Given the description of an element on the screen output the (x, y) to click on. 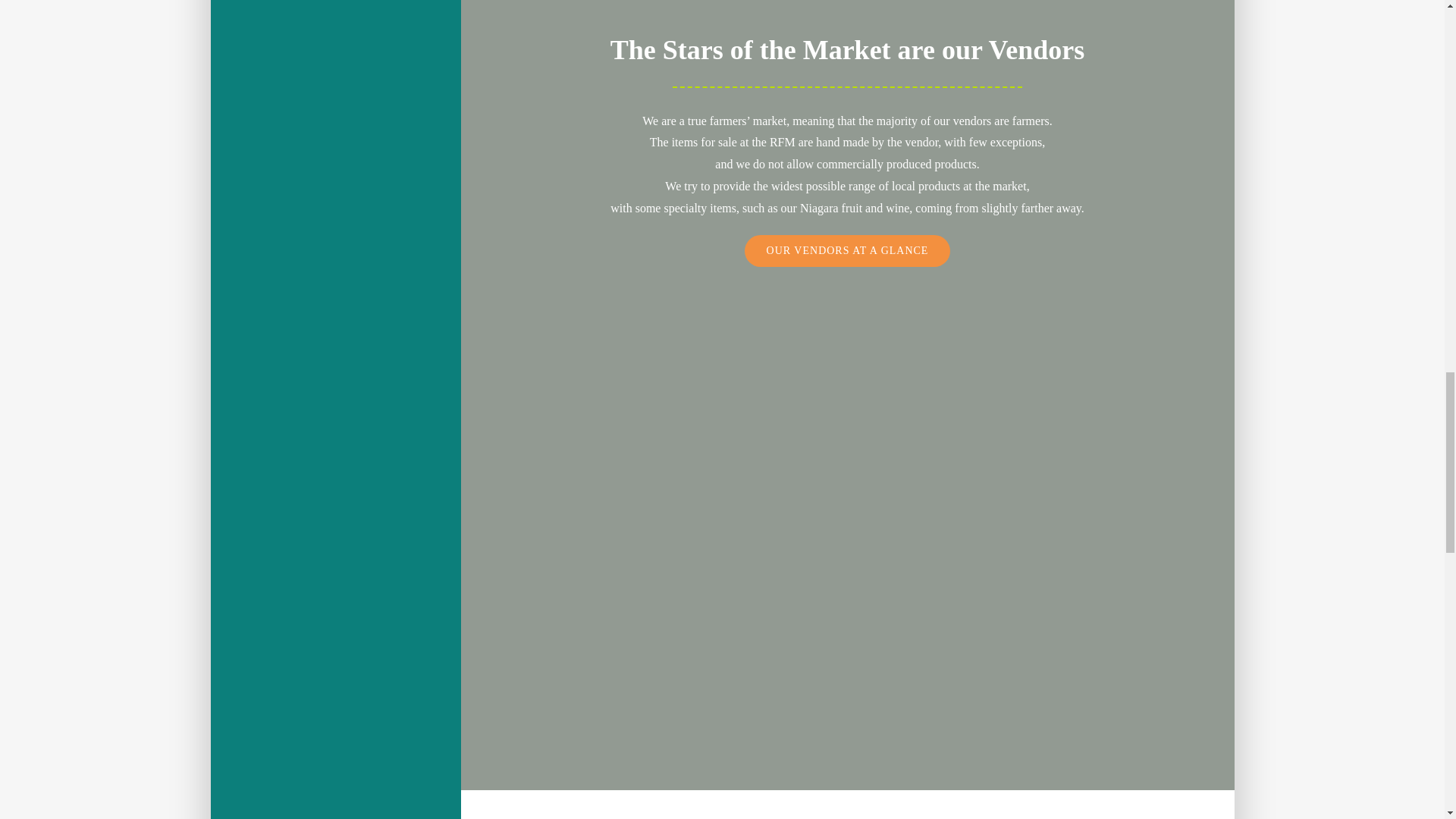
Copy of green onions (846, 486)
Copy of peonies (846, 309)
Copy of swiss chard (604, 486)
Copy of cucumbers (1088, 309)
Copy of preserves (604, 309)
OUR VENDORS AT A GLANCE (847, 251)
Copy of squash 2021 (1088, 486)
